Given the description of an element on the screen output the (x, y) to click on. 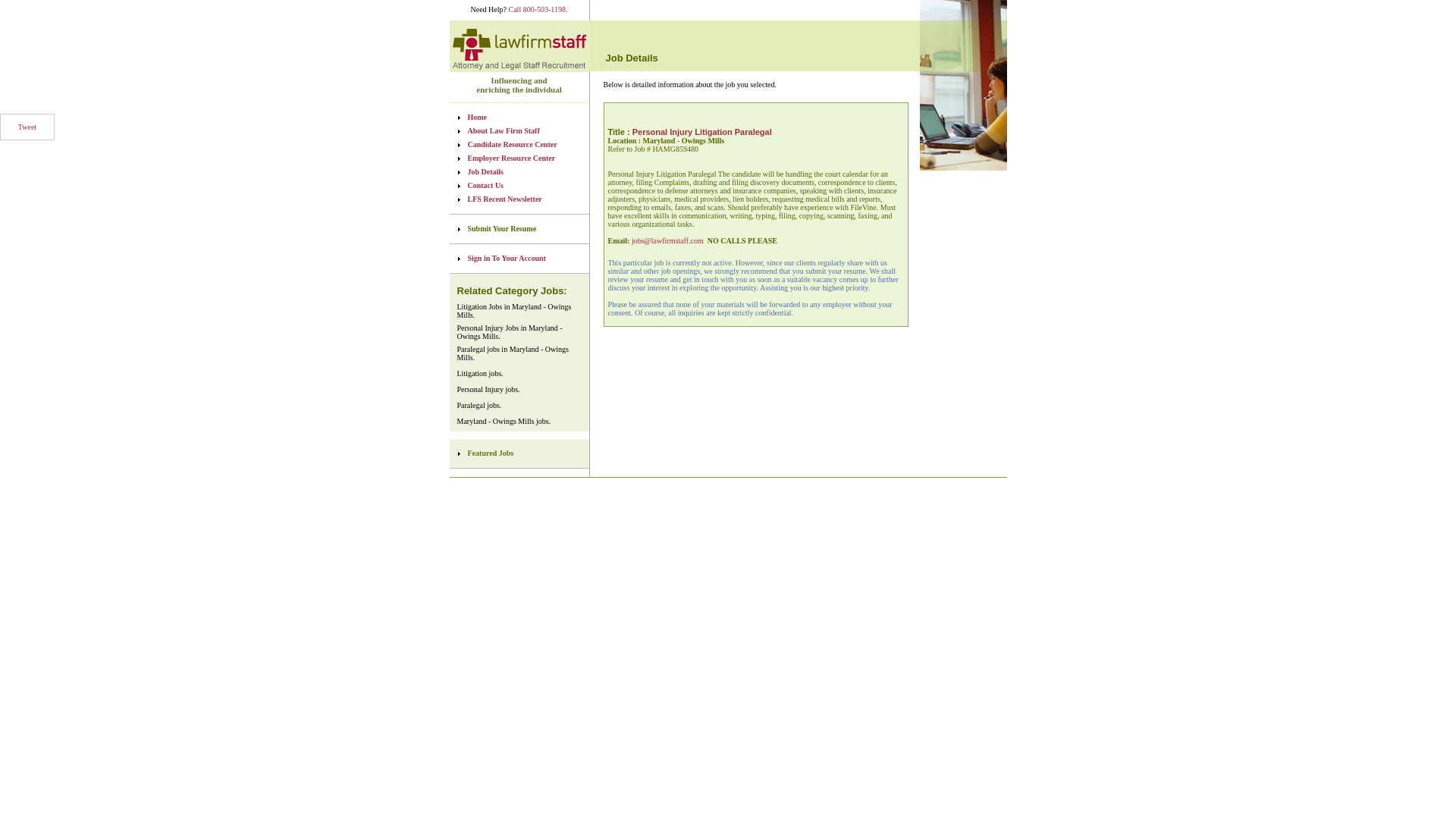
Sign in To Your Account (526, 258)
LFS Recent Newsletter (526, 199)
Personal Injury Litigation Paralegal (701, 131)
Tweet (26, 126)
Paralegal jobs in Maryland - Owings Mills. (518, 352)
Law Firm Staff - Law Firm Placement (518, 46)
Employer Resource Center (526, 158)
Litigation jobs. (479, 373)
Contact Us (526, 185)
Paralegal jobs. (478, 405)
Personal Injury jobs. (488, 388)
Submit Your Resume (526, 228)
Maryland - Owings Mills jobs. (503, 420)
Litigation Jobs in Maryland - Owings Mills. (518, 310)
Candidate Resource Center (526, 144)
